Given the description of an element on the screen output the (x, y) to click on. 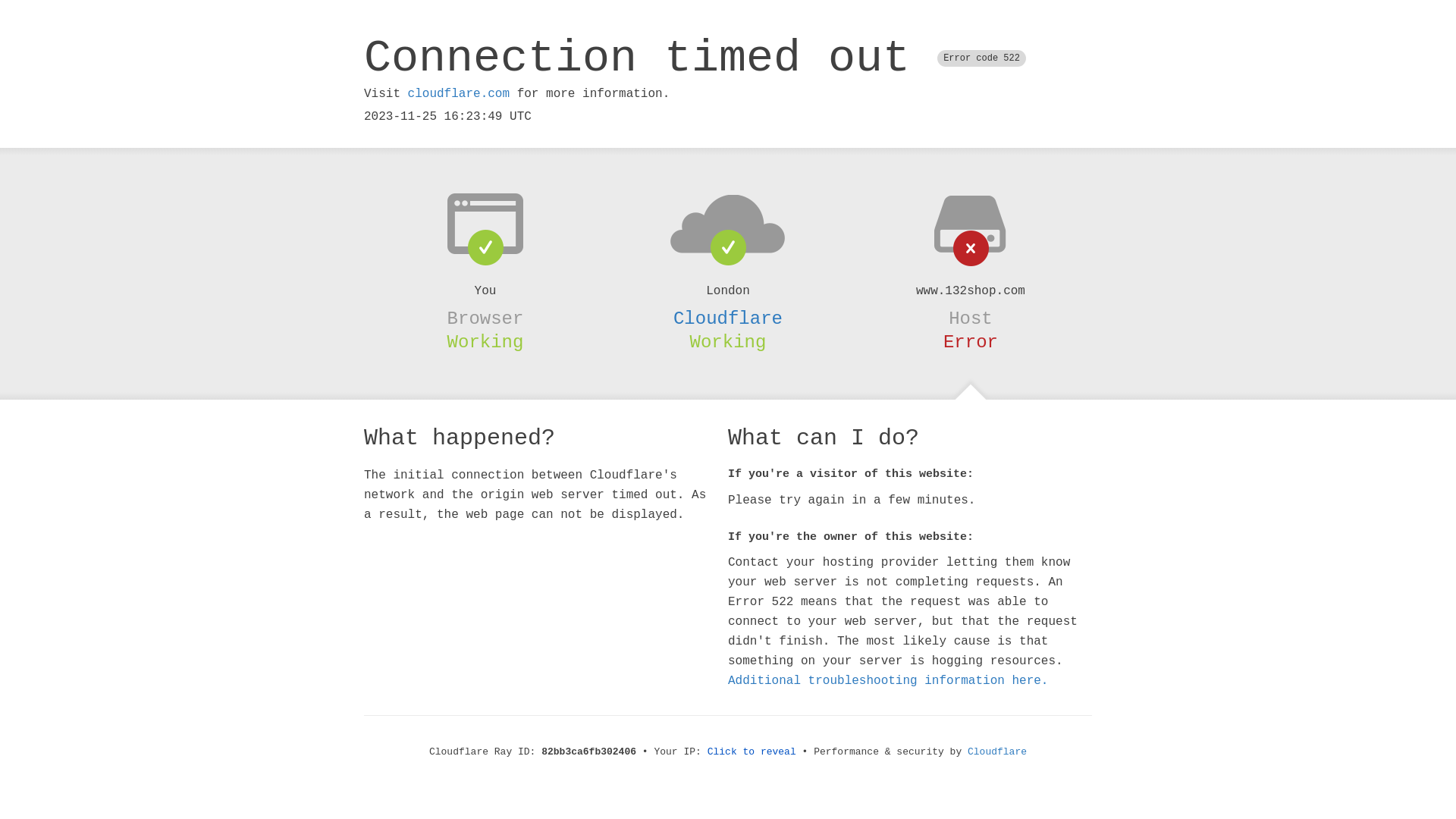
Additional troubleshooting information here. Element type: text (888, 680)
cloudflare.com Element type: text (458, 93)
Click to reveal Element type: text (751, 751)
Cloudflare Element type: text (727, 318)
Cloudflare Element type: text (996, 751)
